Given the description of an element on the screen output the (x, y) to click on. 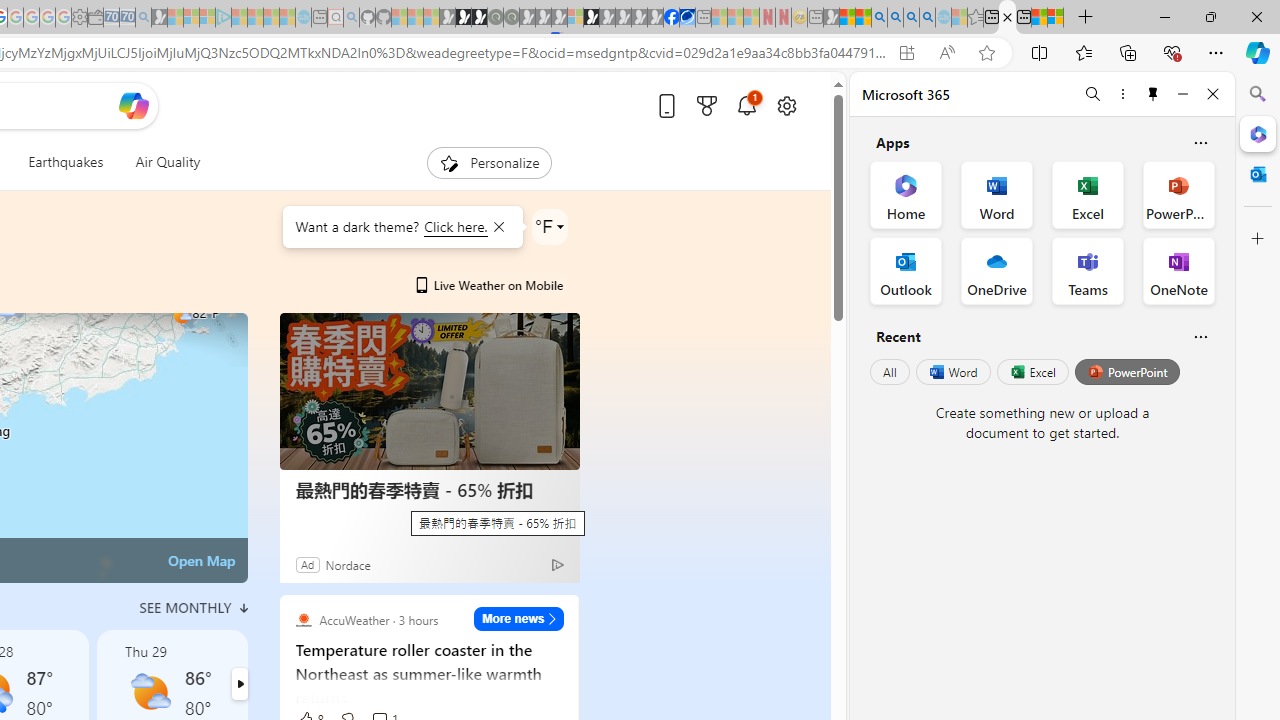
PowerPoint Office App (1178, 194)
Weather settings (549, 226)
Close Microsoft 365 pane (1258, 133)
Outlook Office App (906, 270)
